Given the description of an element on the screen output the (x, y) to click on. 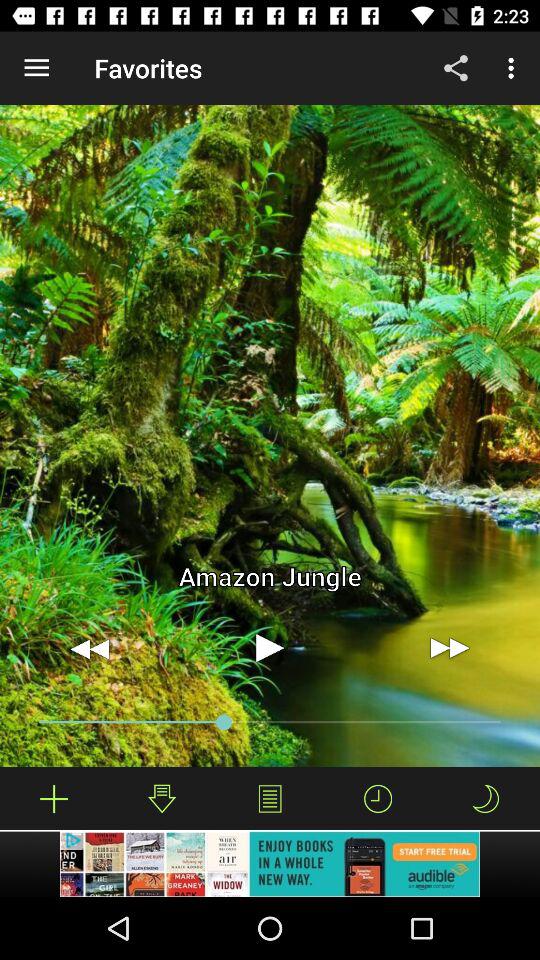
sleep timer (485, 798)
